Given the description of an element on the screen output the (x, y) to click on. 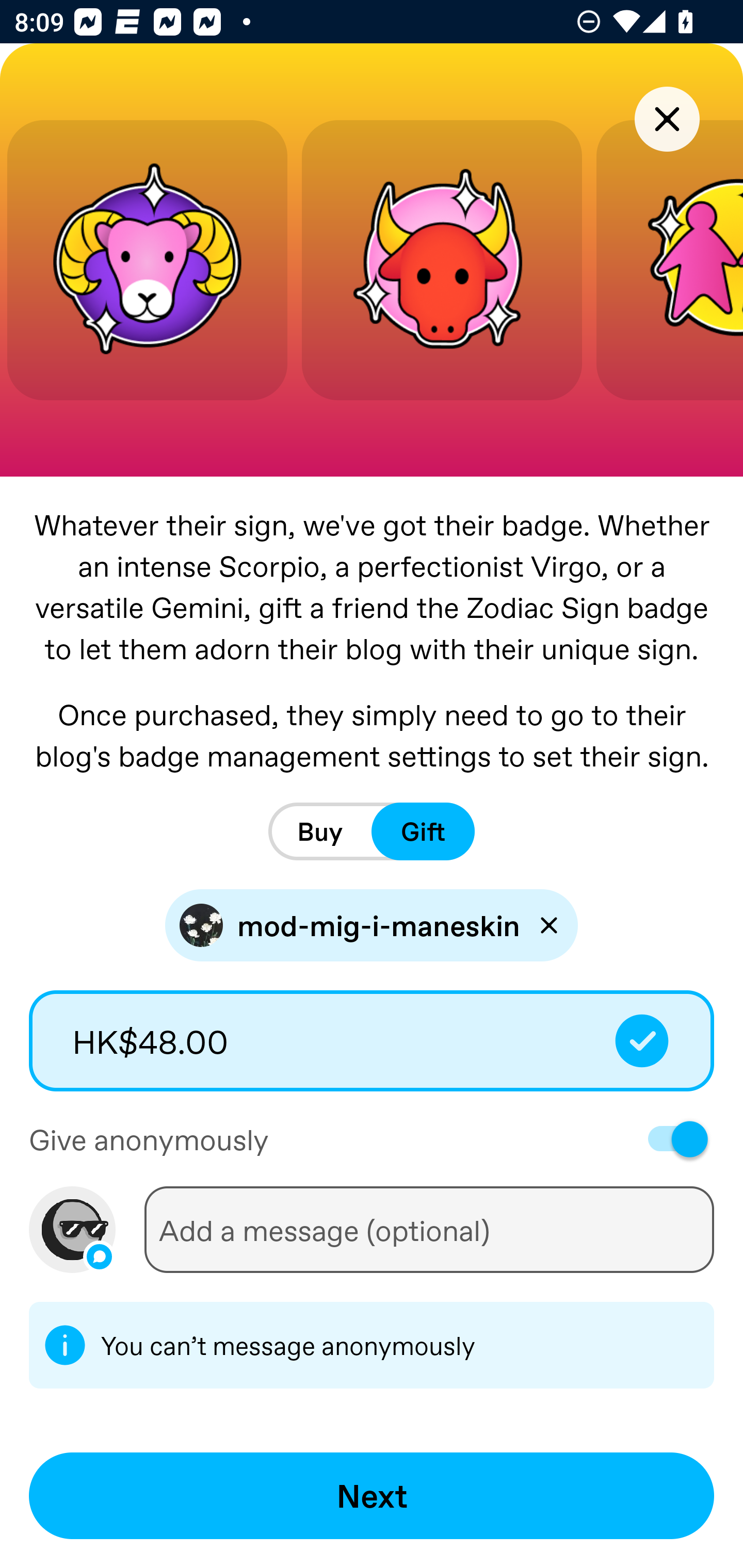
Buy (319, 831)
Gift (423, 831)
Add a message (optional) (429, 1229)
Next (371, 1495)
